Given the description of an element on the screen output the (x, y) to click on. 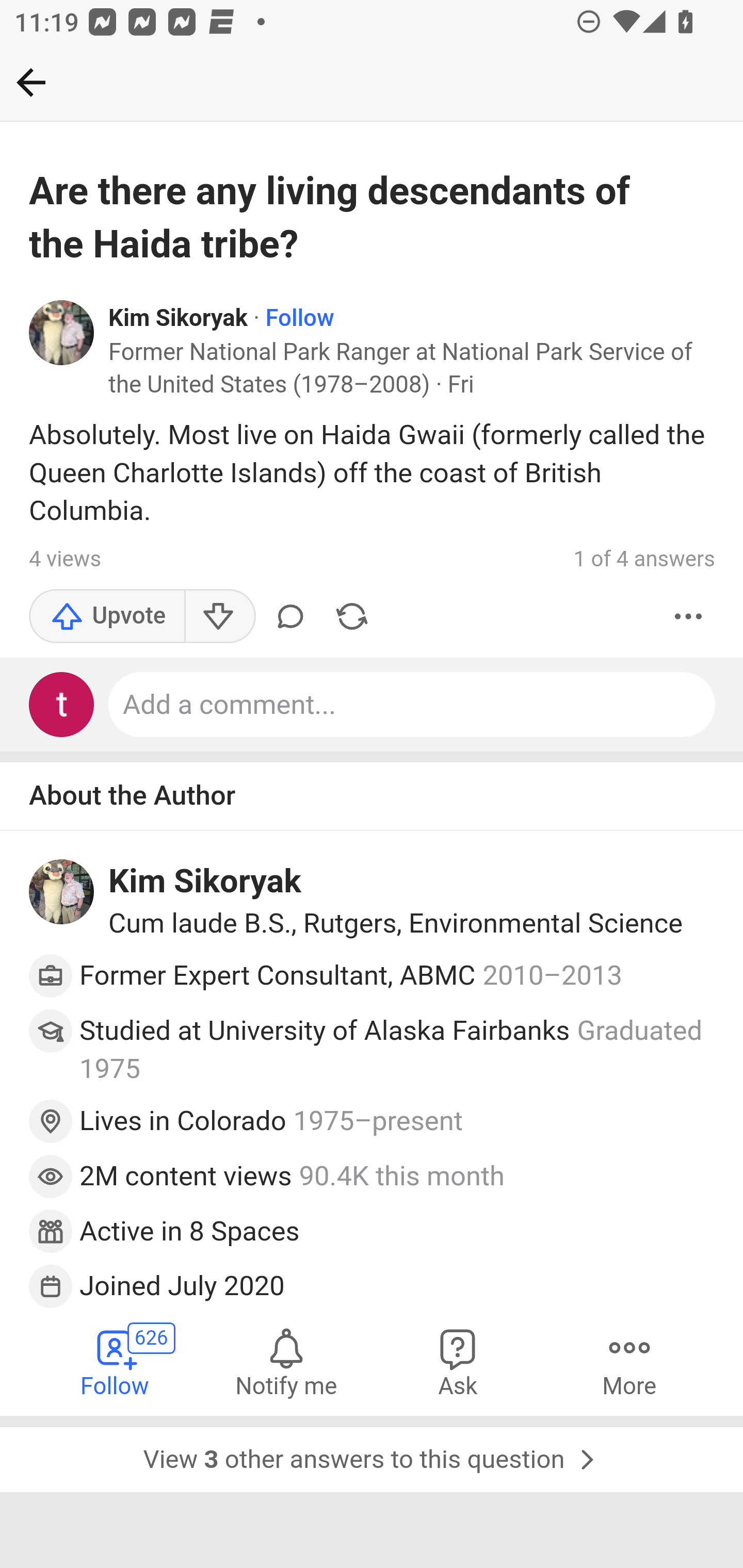
Back (30, 82)
Profile photo for Kim Sikoryak (61, 331)
Kim Sikoryak (178, 318)
Follow (299, 318)
1 of 4 answers (644, 558)
Upvote (106, 617)
Downvote (219, 617)
Comment (290, 617)
Share (351, 617)
More (688, 617)
Profile photo for Test Appium (61, 704)
Add a comment... (412, 704)
Profile photo for Kim Sikoryak (61, 891)
Kim Sikoryak (204, 880)
Follow Kim Sikoryak 626 Follow (115, 1361)
Notify me (285, 1361)
Ask (458, 1361)
More (628, 1361)
View 3 other answers to this question (371, 1454)
